Given the description of an element on the screen output the (x, y) to click on. 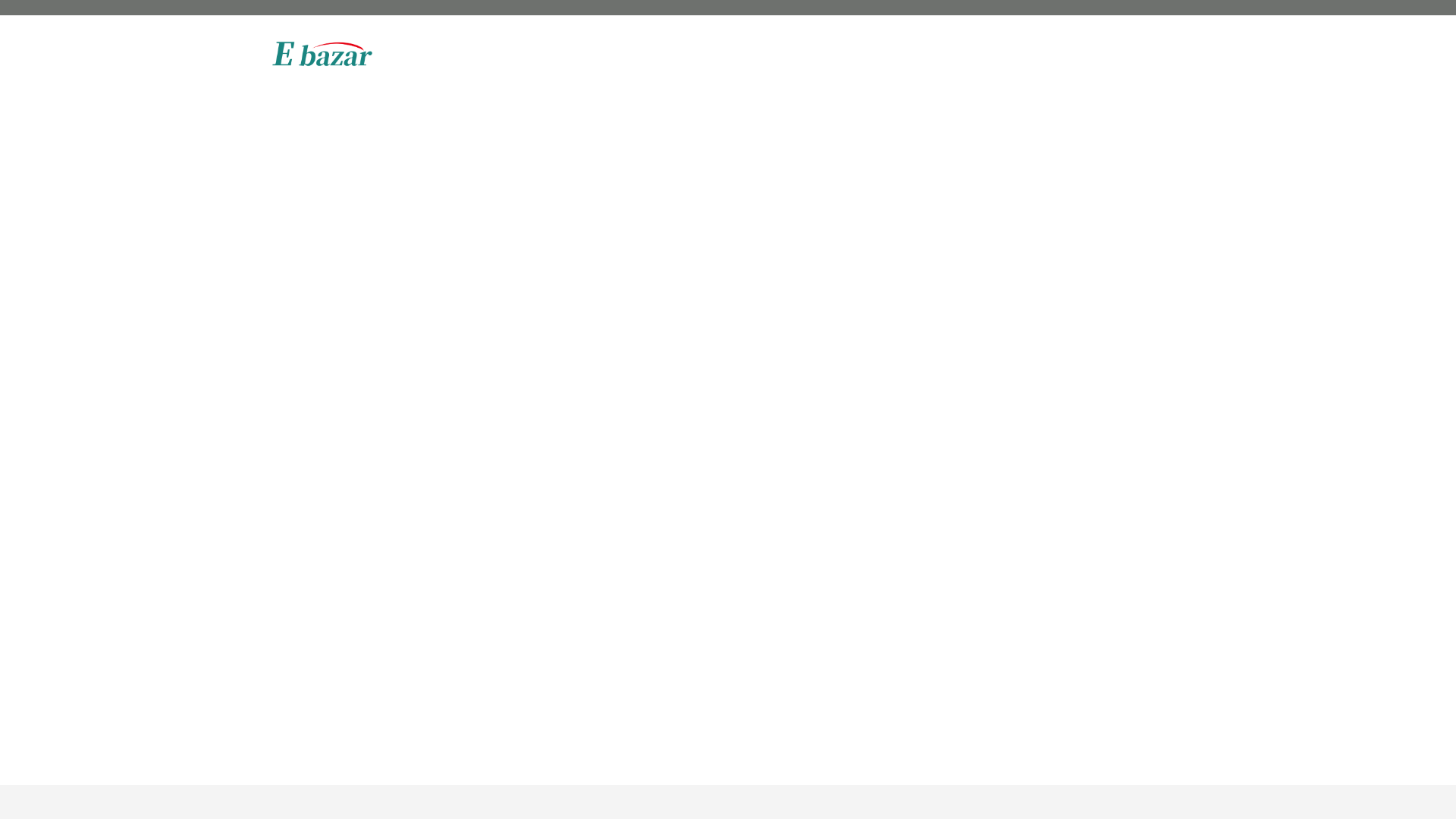
Skip to Content Element type: text (257, 6)
